Given the description of an element on the screen output the (x, y) to click on. 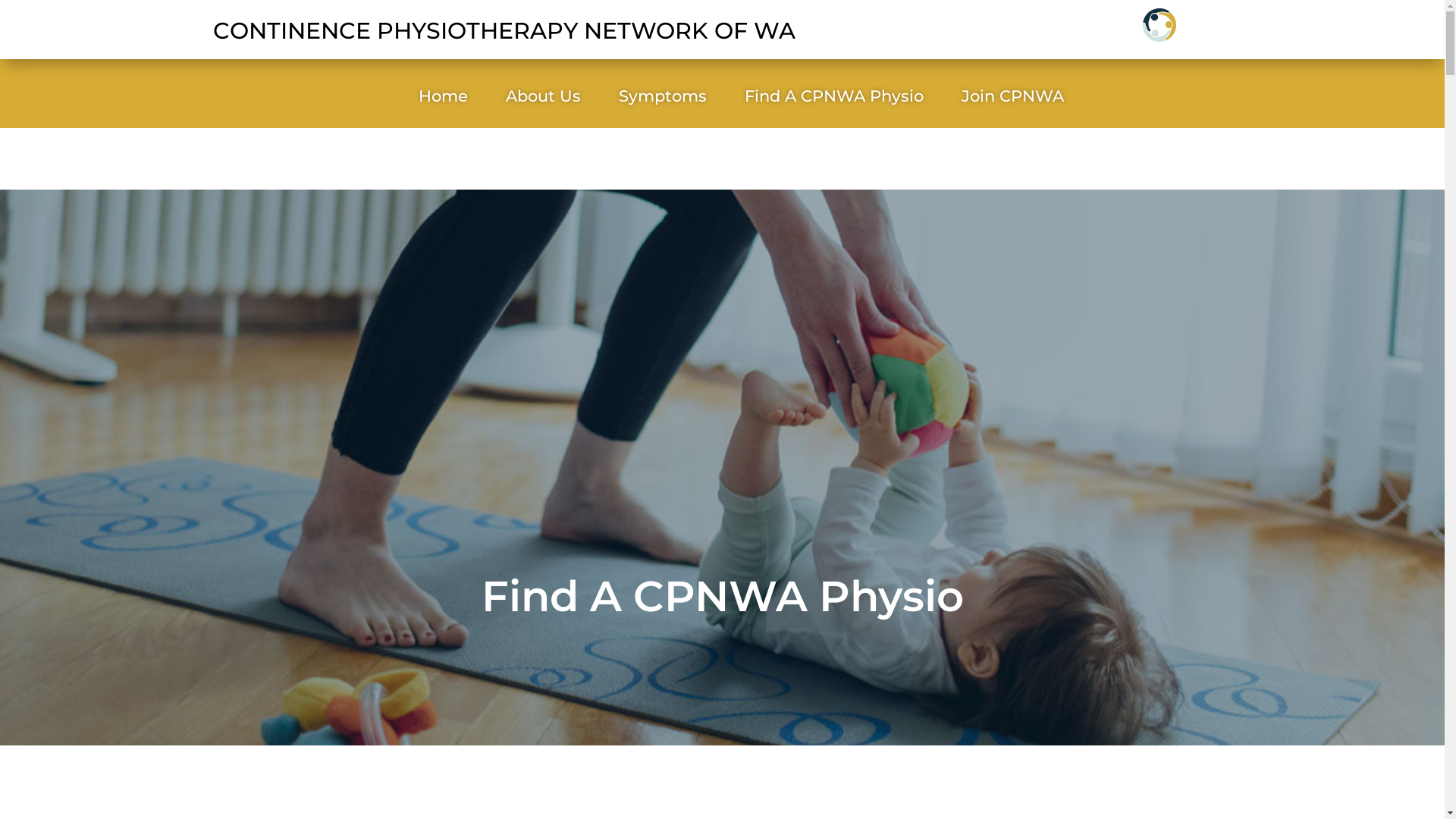
cpnwa_logo_favicon@4x Element type: hover (1159, 24)
Join CPNWA Element type: text (1012, 99)
About Us Element type: text (542, 99)
Symptoms Element type: text (662, 99)
Home Element type: text (442, 99)
Find A CPNWA Physio Element type: text (833, 99)
